Given the description of an element on the screen output the (x, y) to click on. 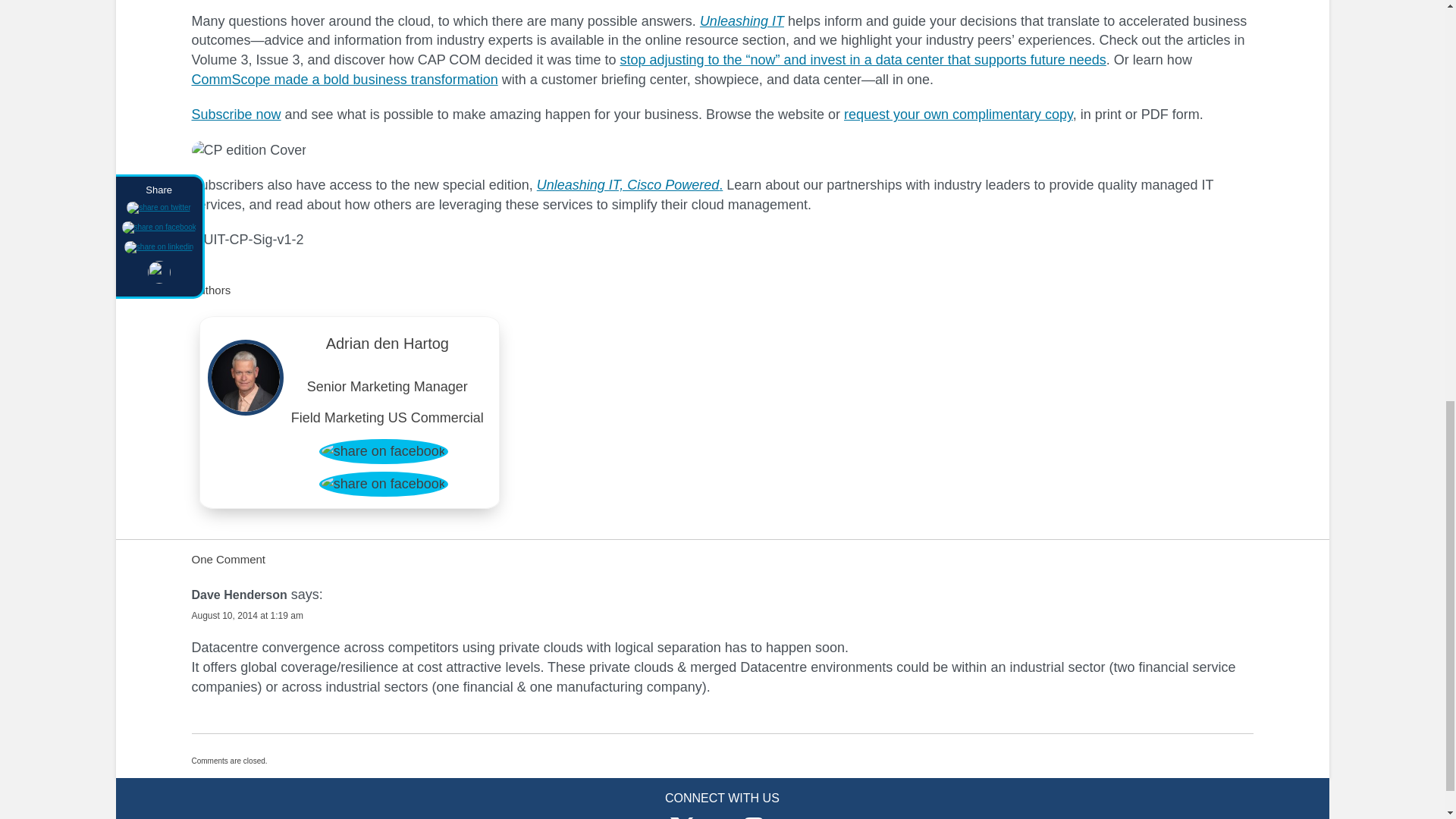
August 10, 2014 at 1:19 am (246, 615)
CommScope made a bold business transformation (343, 79)
request your own complimentary copy (958, 114)
Unleashing IT (742, 20)
Unleashing IT, Cisco Powered. (629, 184)
Subscribe now (235, 114)
Adrian den Hartog (387, 347)
